Given the description of an element on the screen output the (x, y) to click on. 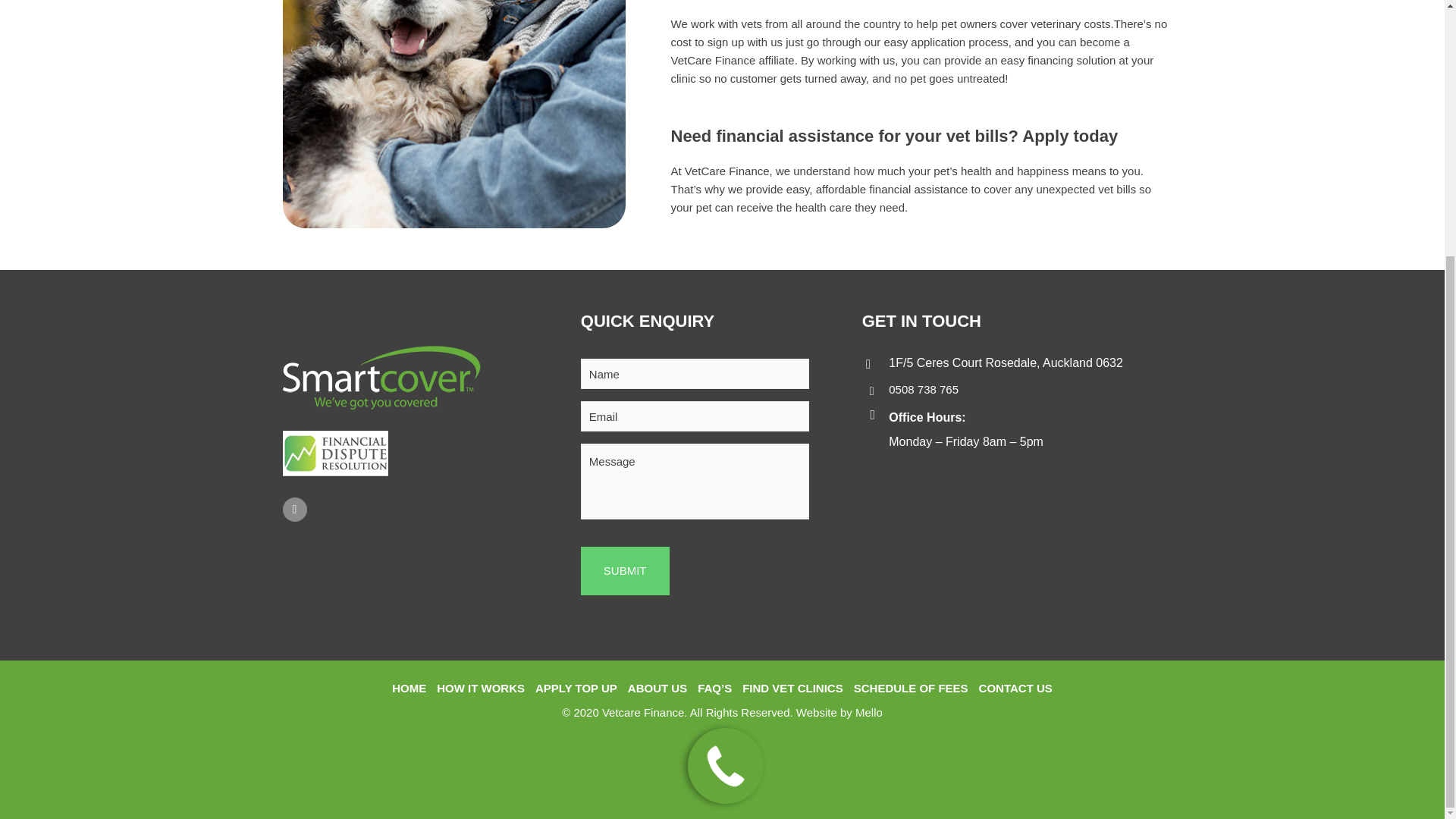
SCHEDULE OF FEES (910, 688)
APPLY TOP UP (576, 688)
Facebook-f (293, 509)
HOW IT WORKS (480, 688)
CONTACT US (1015, 688)
Mello (869, 712)
FIND VET CLINICS (792, 688)
0508 738 765 (923, 389)
HOME (408, 688)
ABOUT US (657, 688)
